Given the description of an element on the screen output the (x, y) to click on. 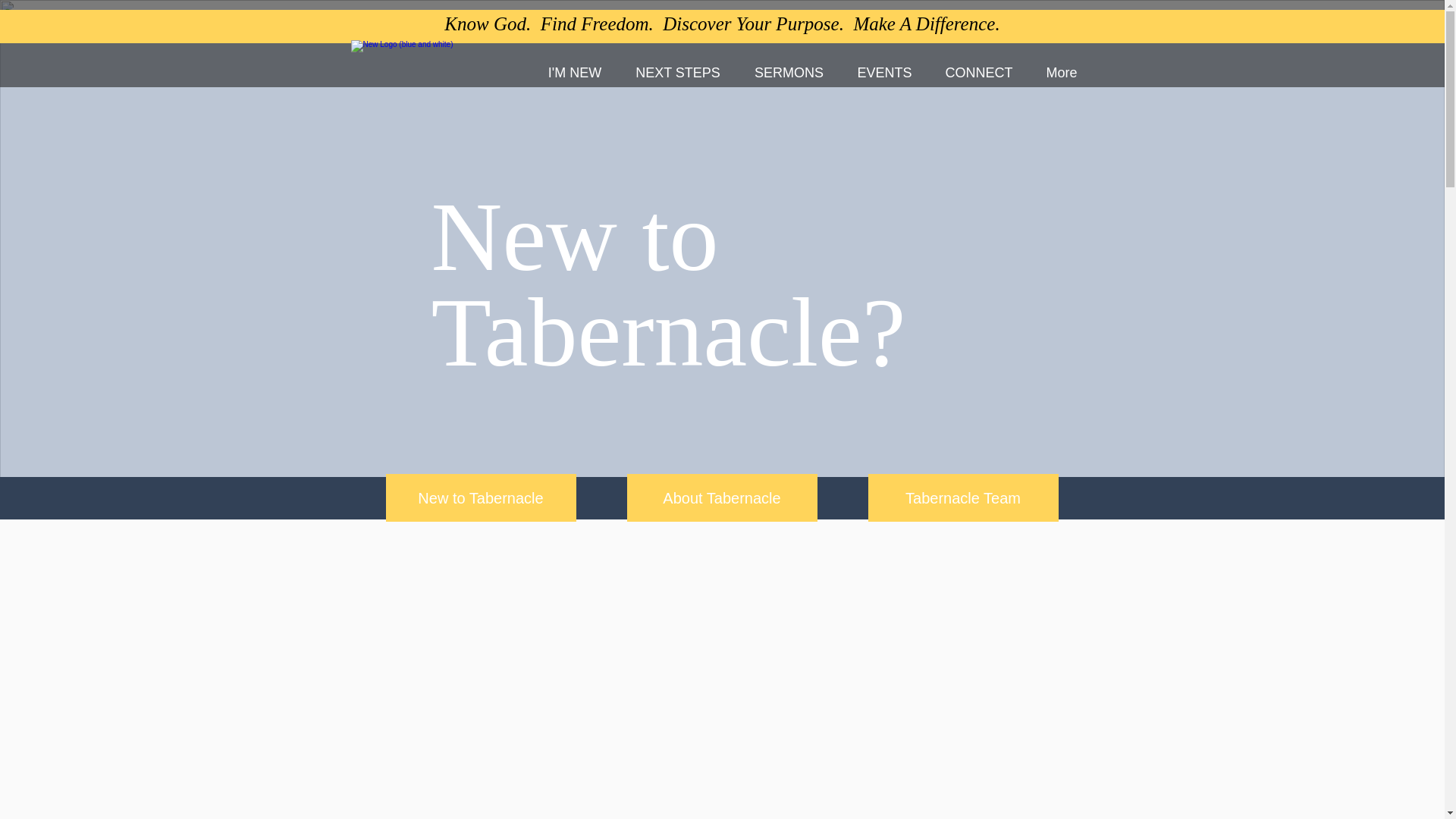
NEXT STEPS (678, 72)
New to Tabernacle (480, 497)
About Tabernacle (721, 497)
EVENTS (884, 72)
I'M NEW (574, 72)
SERMONS (788, 72)
Tabernacle Team (962, 497)
CONNECT (978, 72)
